Given the description of an element on the screen output the (x, y) to click on. 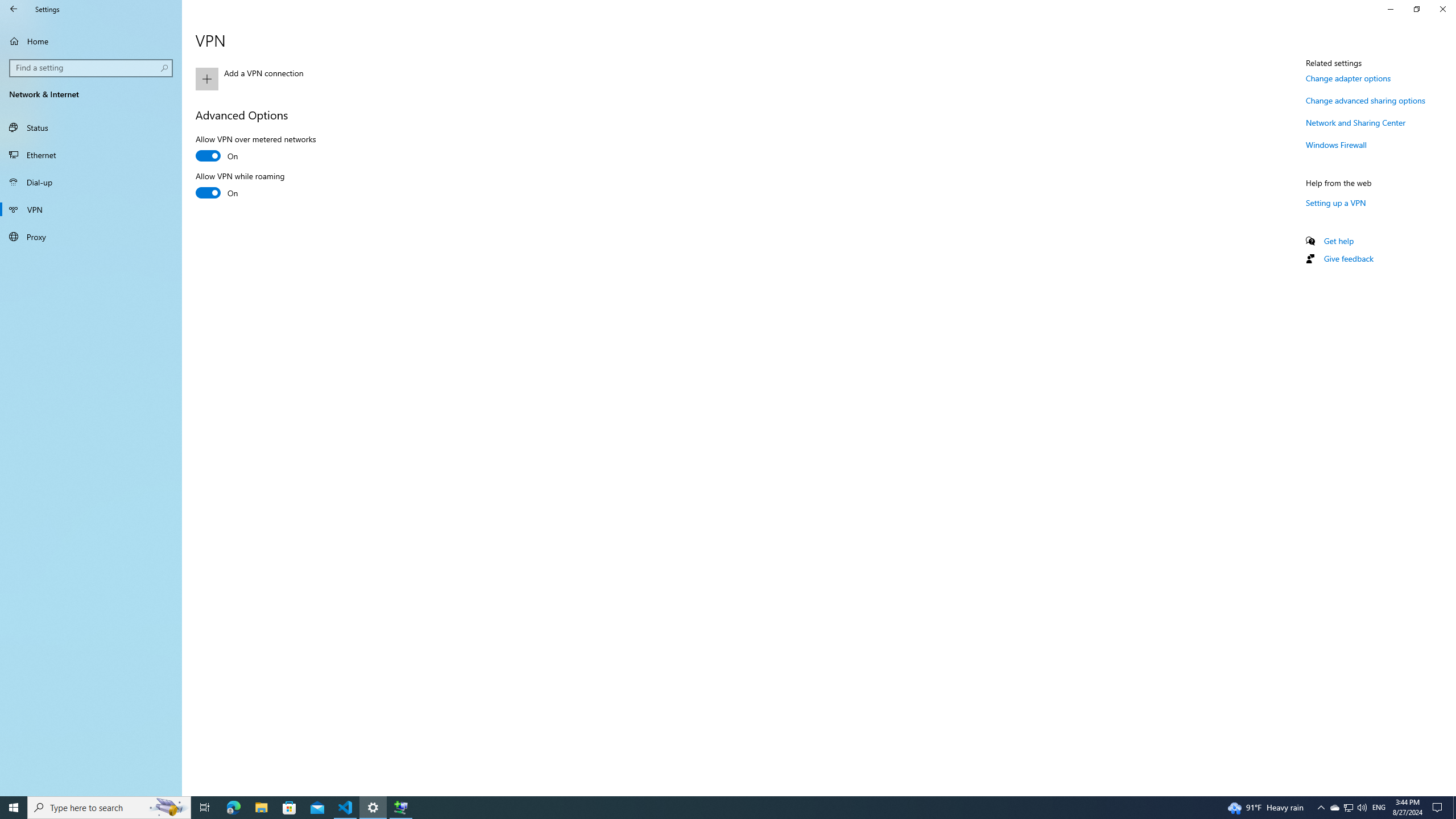
Windows Firewall (1336, 144)
Add a VPN connection (319, 78)
Allow VPN over metered networks (255, 148)
Search box, Find a setting (91, 67)
Status (91, 126)
Running applications (706, 807)
